Given the description of an element on the screen output the (x, y) to click on. 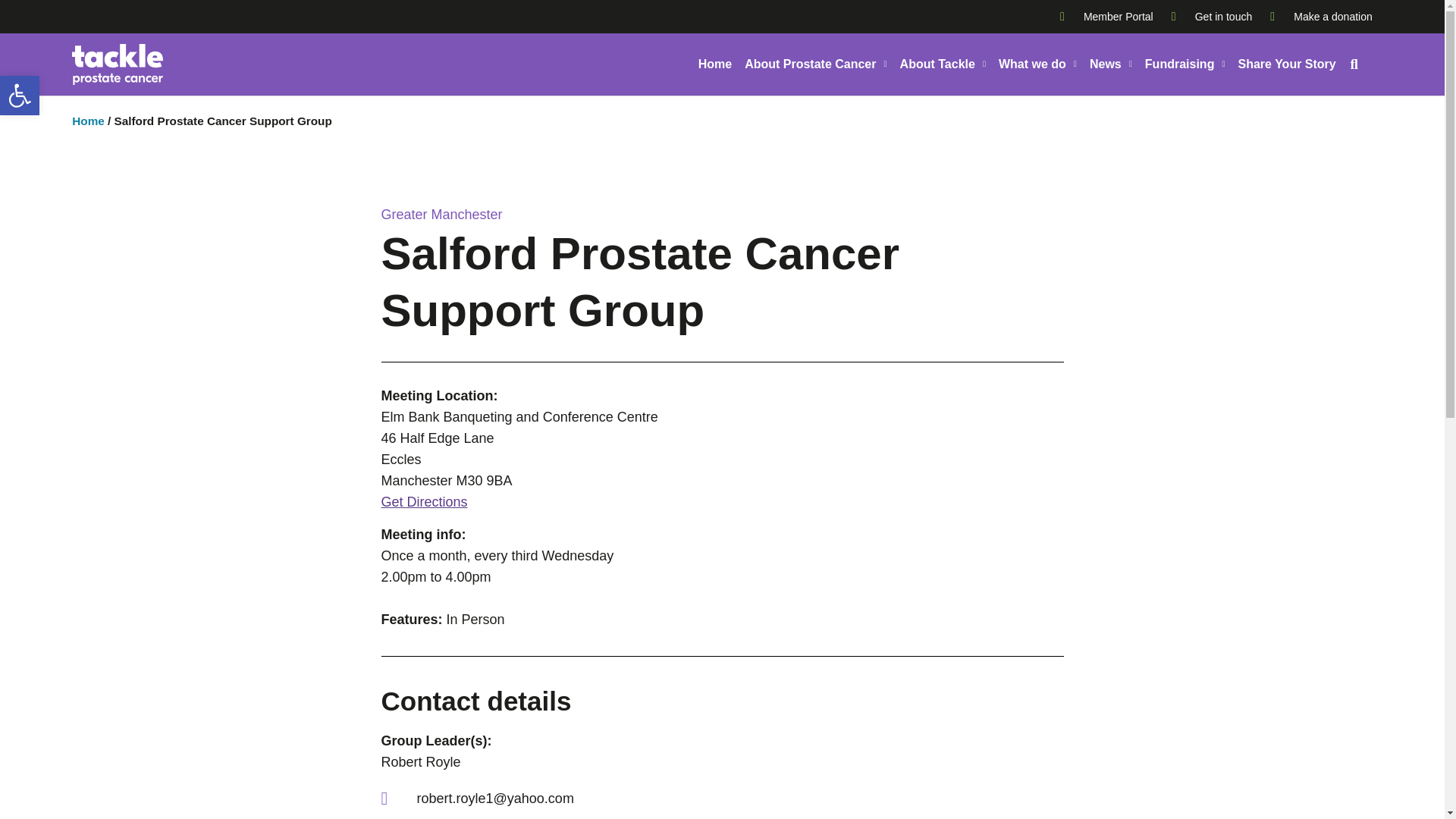
About Prostate Cancer (815, 64)
Get in touch (1212, 16)
About Tackle (942, 64)
What we do (19, 95)
Accessibility Tools (1037, 64)
Member Portal (19, 95)
Make a donation (1106, 16)
Fundraising (1321, 16)
Accessibility Tools (1184, 64)
